Given the description of an element on the screen output the (x, y) to click on. 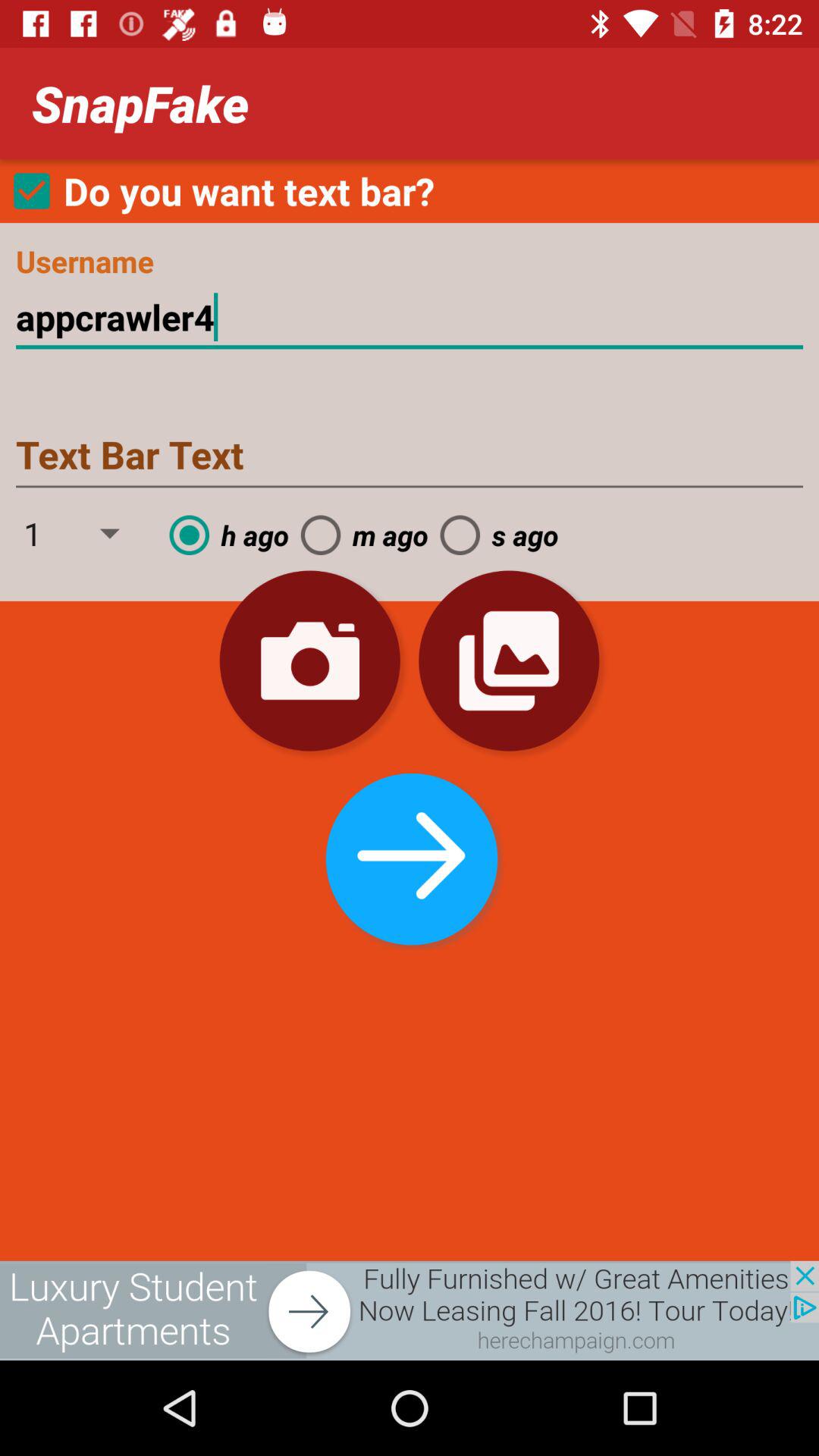
open photos (508, 660)
